Given the description of an element on the screen output the (x, y) to click on. 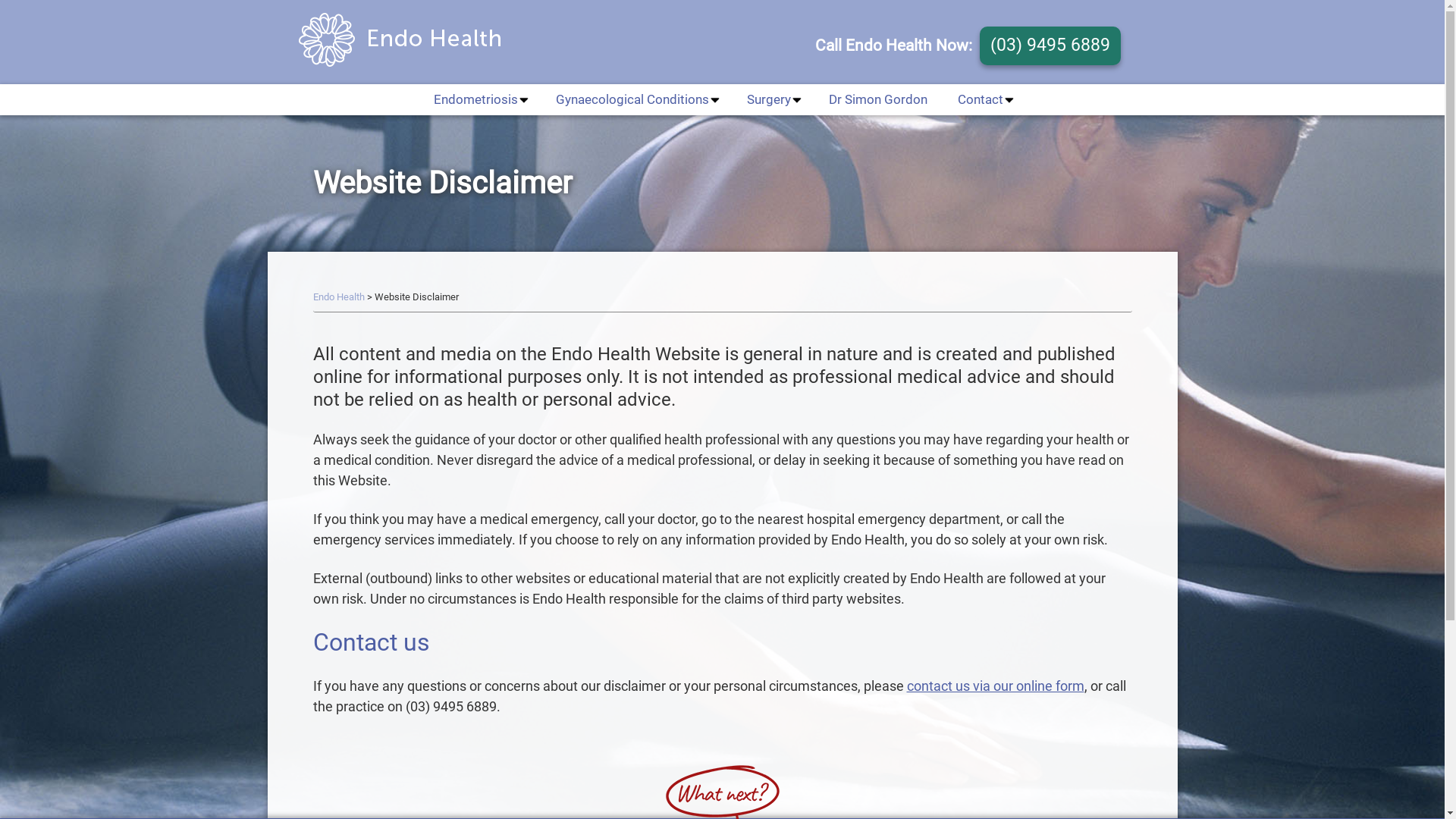
Dr Simon Gordon Element type: text (878, 99)
Contact Element type: text (984, 99)
Gynaecological Conditions Element type: text (636, 99)
Surgery Element type: text (772, 99)
contact us via our online form Element type: text (995, 685)
Endo Health Element type: text (338, 296)
Endometriosis Element type: text (479, 99)
Endo Health Element type: text (410, 41)
(03) 9495 6889 Element type: text (1049, 45)
